Given the description of an element on the screen output the (x, y) to click on. 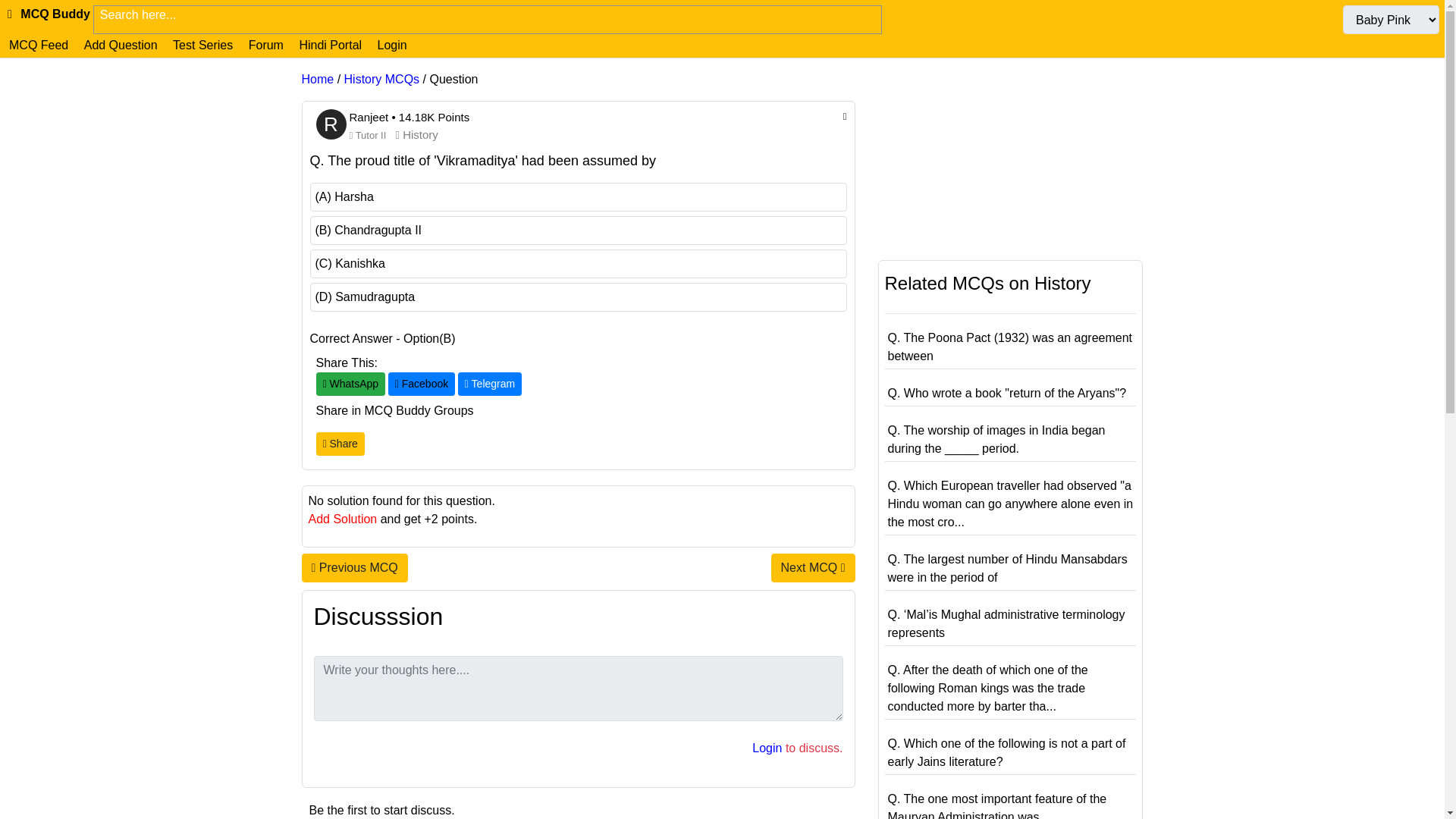
Test Series (202, 44)
Login (392, 44)
Home (317, 78)
Login (766, 748)
Q. Who wrote a book "return of the Aryans"? (1005, 392)
Previous MCQ (354, 567)
MCQ Feed (38, 44)
Search here... (487, 14)
Telegram (489, 383)
Facebook (421, 383)
Ranjeet (370, 116)
Hindi Portal (330, 44)
Next MCQ (813, 567)
